Given the description of an element on the screen output the (x, y) to click on. 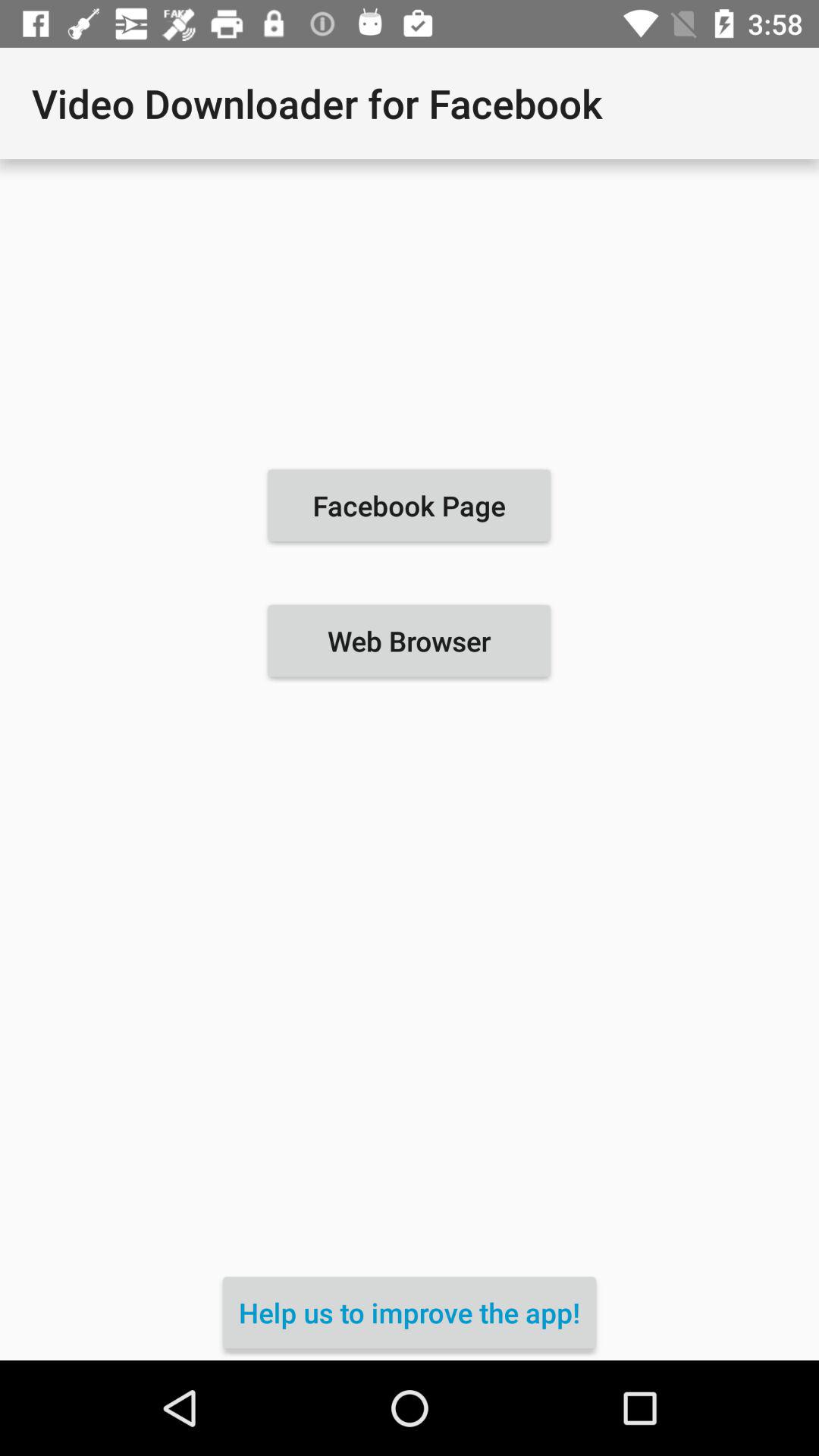
turn off icon above the web browser icon (408, 505)
